Given the description of an element on the screen output the (x, y) to click on. 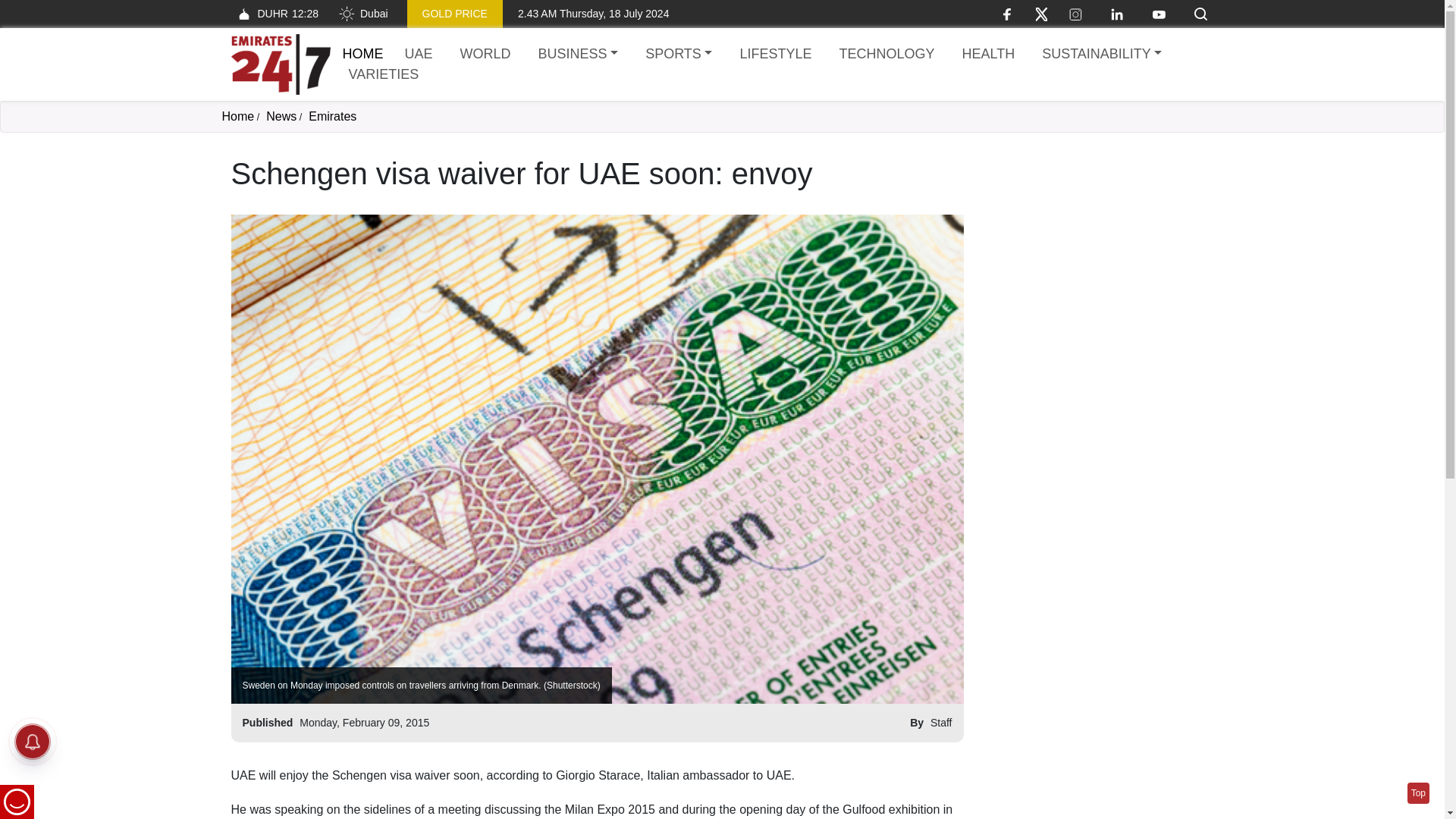
Home (280, 64)
3rd party ad content (1097, 249)
Go to top (1418, 792)
TECHNOLOGY (886, 54)
UAE (418, 54)
Dubai (362, 13)
BUSINESS (578, 54)
GOLD PRICE (454, 13)
SUSTAINABILITY (1101, 54)
VARIETIES (383, 74)
Emirates (332, 115)
HEALTH (987, 54)
Home (237, 115)
Home (363, 53)
